Given the description of an element on the screen output the (x, y) to click on. 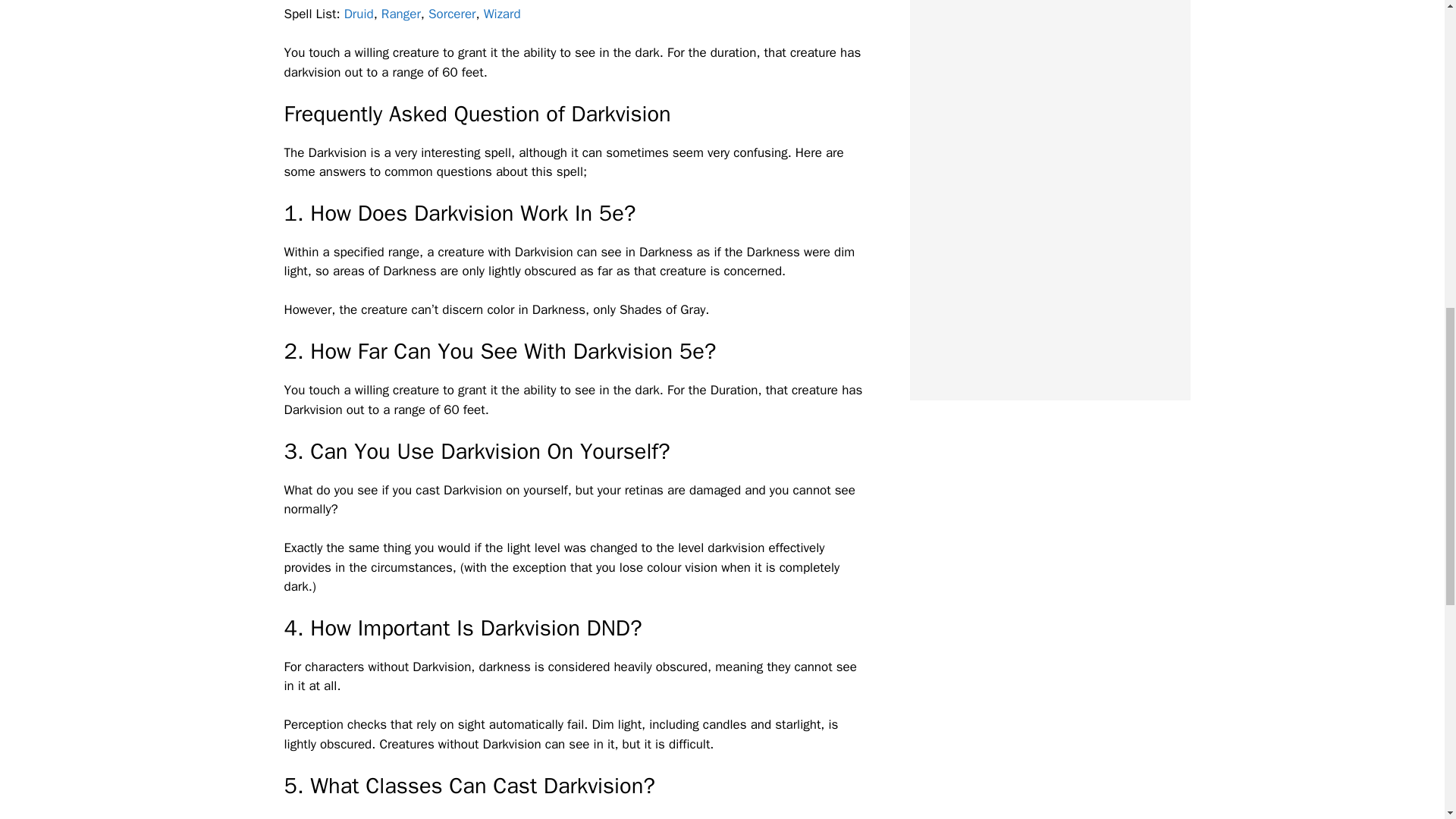
Druid (358, 13)
